Given the description of an element on the screen output the (x, y) to click on. 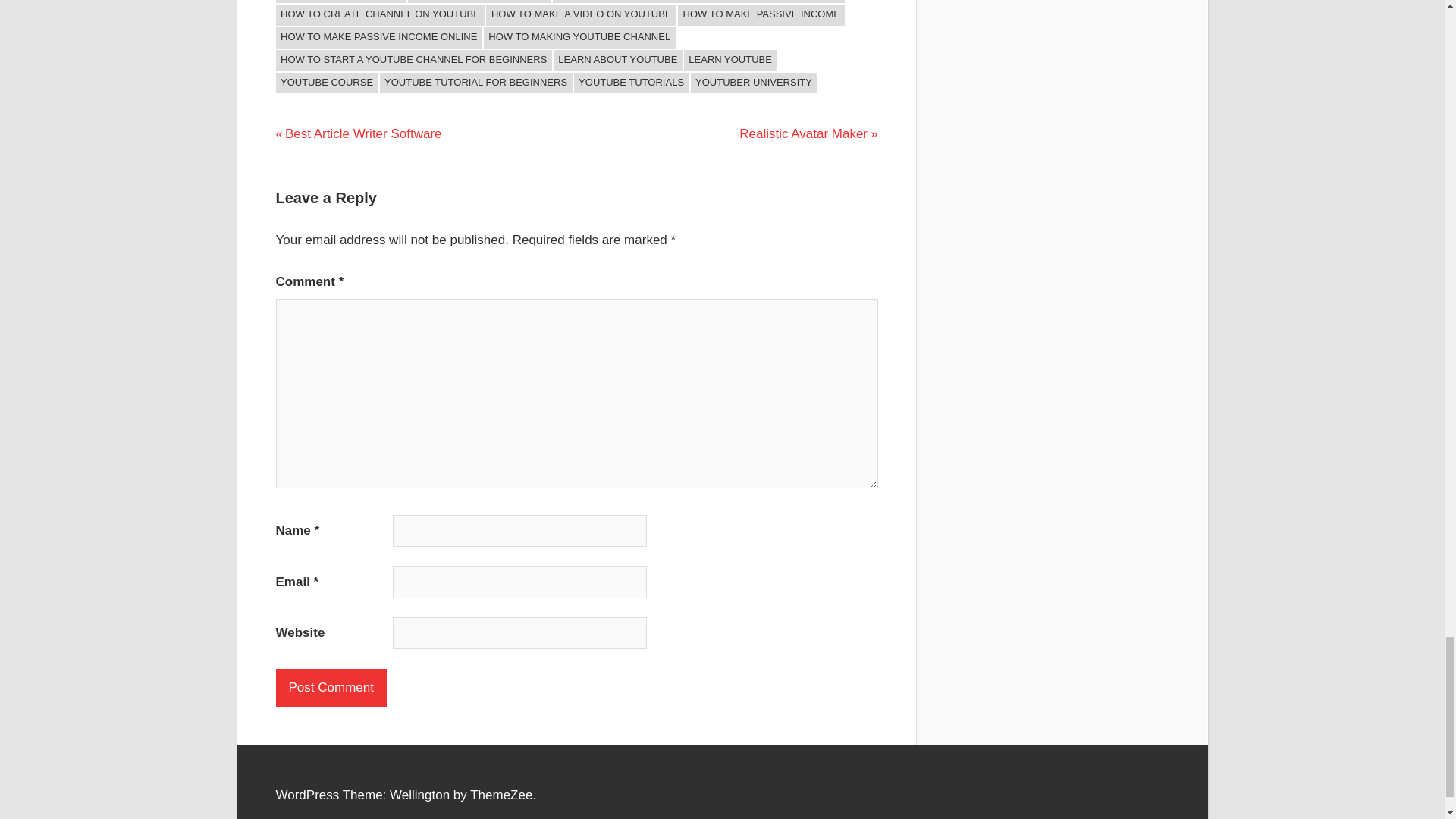
YOUTUBE COURSE (327, 83)
Post Comment (331, 687)
LEARN YOUTUBE (730, 60)
LEARN ABOUT YOUTUBE (617, 60)
HOW TO MAKE PASSIVE INCOME (761, 14)
HOW TO MAKE PASSIVE INCOME ONLINE (378, 37)
BEST YOUTUBE TUTORIALS (479, 1)
YOUTUBE TUTORIAL FOR BEGINNERS (476, 83)
